Given the description of an element on the screen output the (x, y) to click on. 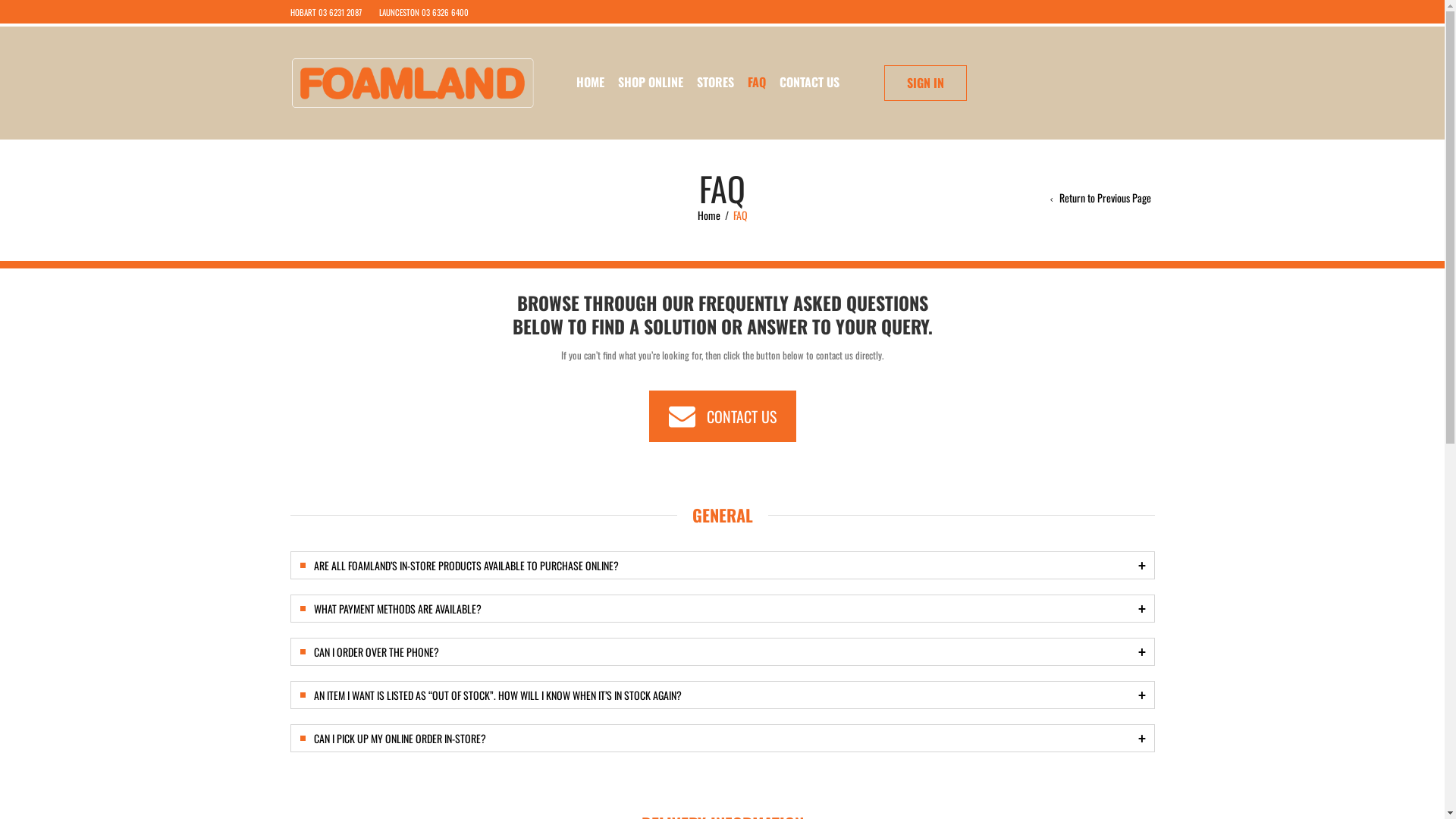
HOME Element type: text (590, 82)
Home Element type: text (708, 214)
STORES Element type: text (715, 82)
CONTACT US Element type: text (809, 82)
HOBART 03 6231 2087 Element type: text (324, 12)
SHOP ONLINE Element type: text (650, 82)
+
WHAT PAYMENT METHODS ARE AVAILABLE? Element type: text (721, 608)
FAQ Element type: text (756, 82)
SIGN IN Element type: text (925, 82)
+
CAN I ORDER OVER THE PHONE? Element type: text (721, 651)
+
CAN I PICK UP MY ONLINE ORDER IN-STORE? Element type: text (721, 738)
LAUNCESTON 03 6326 6400 Element type: text (423, 12)
CONTACT US Element type: text (722, 416)
Return to Previous Page Element type: text (1099, 197)
